Given the description of an element on the screen output the (x, y) to click on. 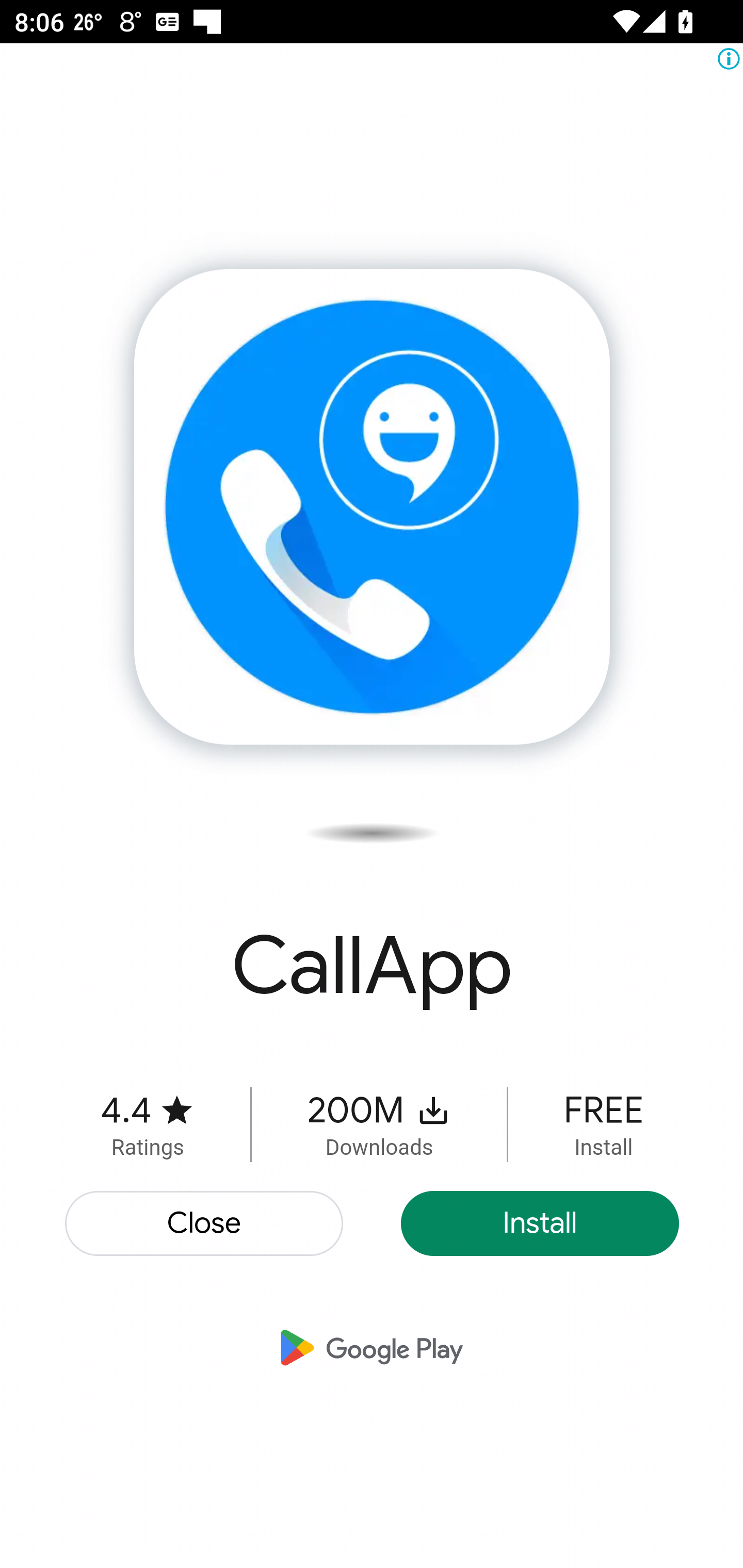
Close (204, 1222)
Install (539, 1222)
